Given the description of an element on the screen output the (x, y) to click on. 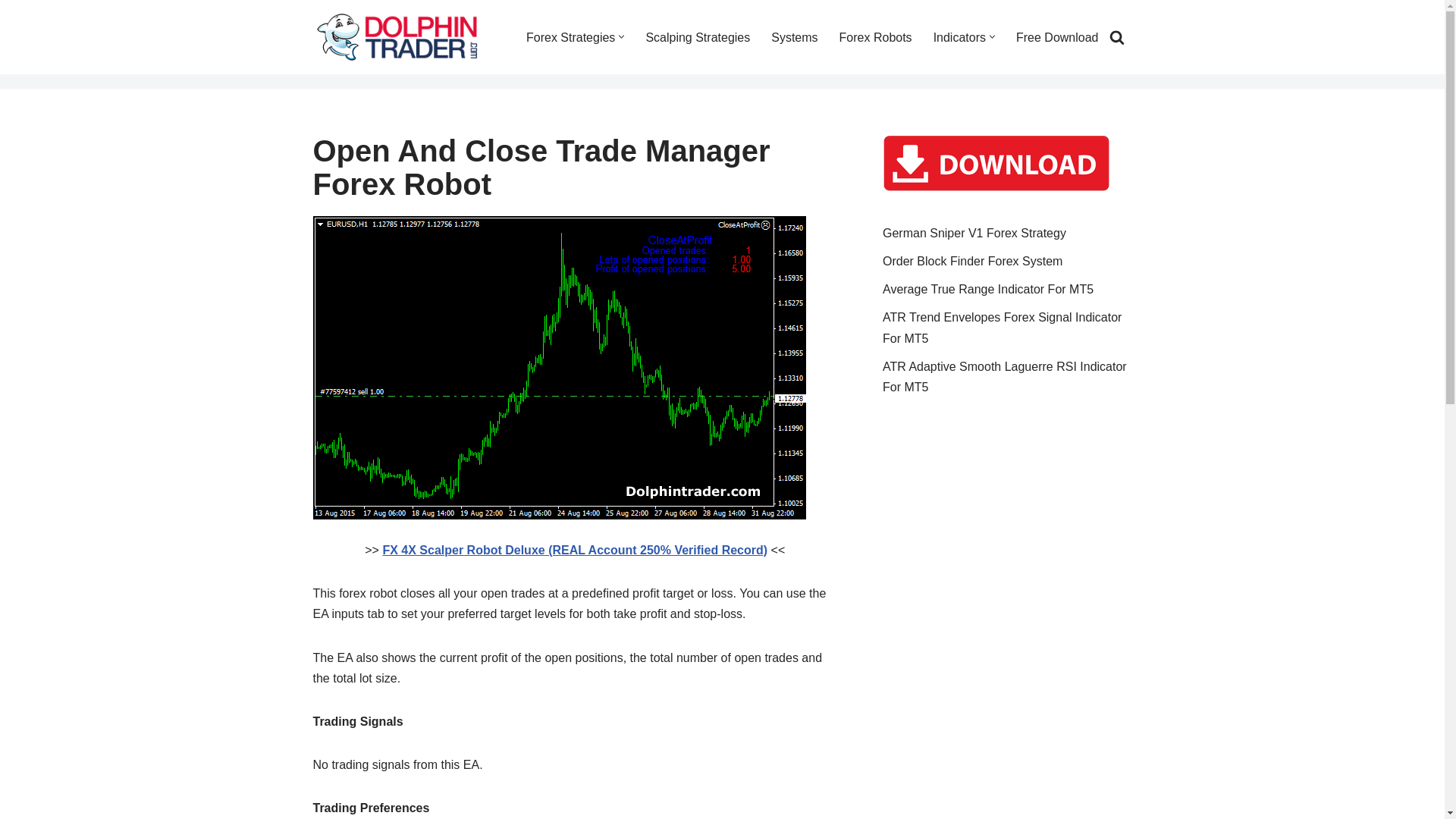
Scalping Strategies (697, 37)
Skip to content (11, 31)
Forex Strategies (569, 37)
Systems (793, 37)
Free Download (1057, 37)
Forex Robots (876, 37)
Indicators (959, 37)
